Given the description of an element on the screen output the (x, y) to click on. 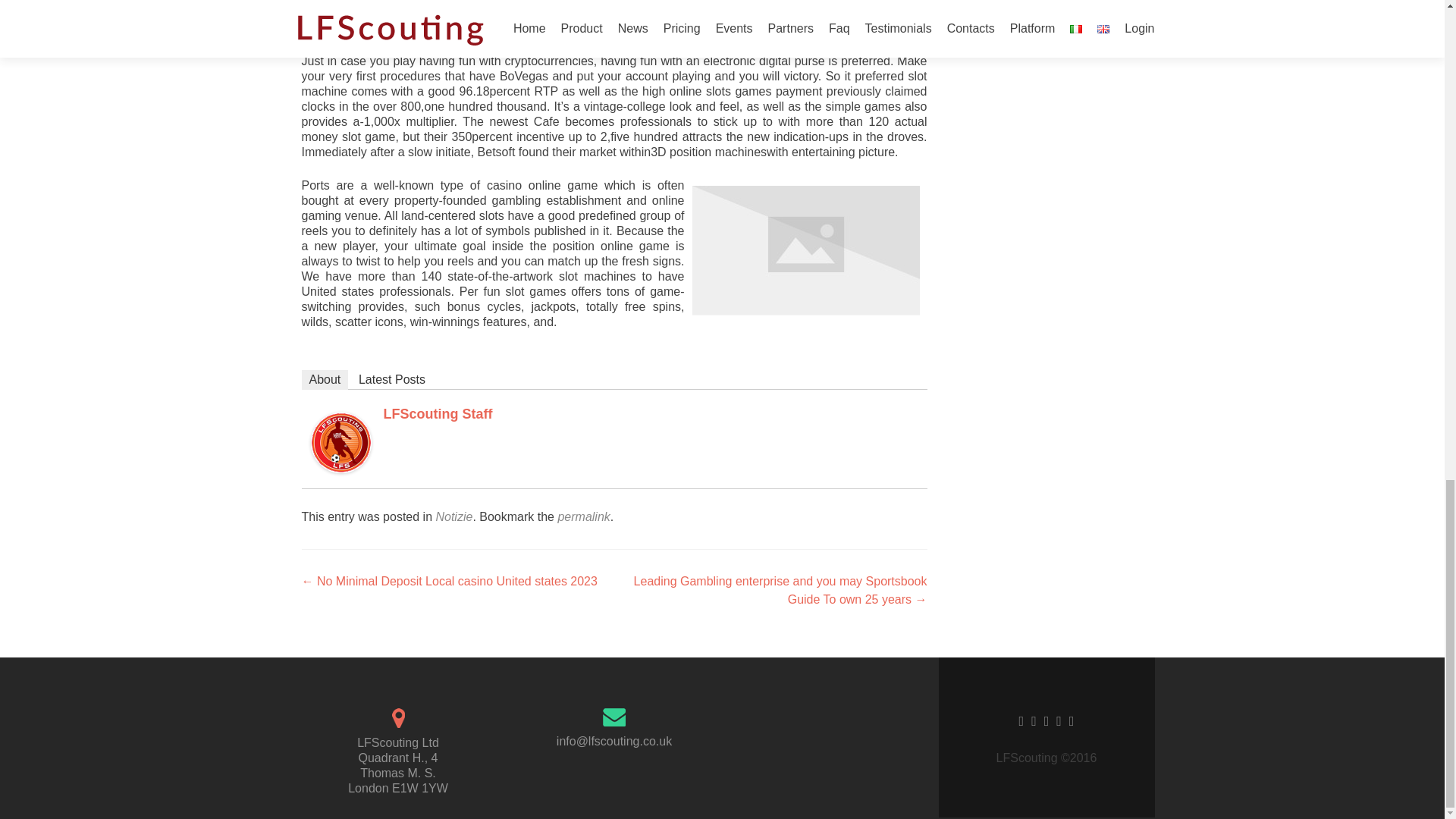
permalink (583, 516)
Notizie (453, 516)
About (325, 379)
LFScouting Staff (341, 440)
Latest Posts (391, 379)
LFScouting Staff (438, 413)
